Given the description of an element on the screen output the (x, y) to click on. 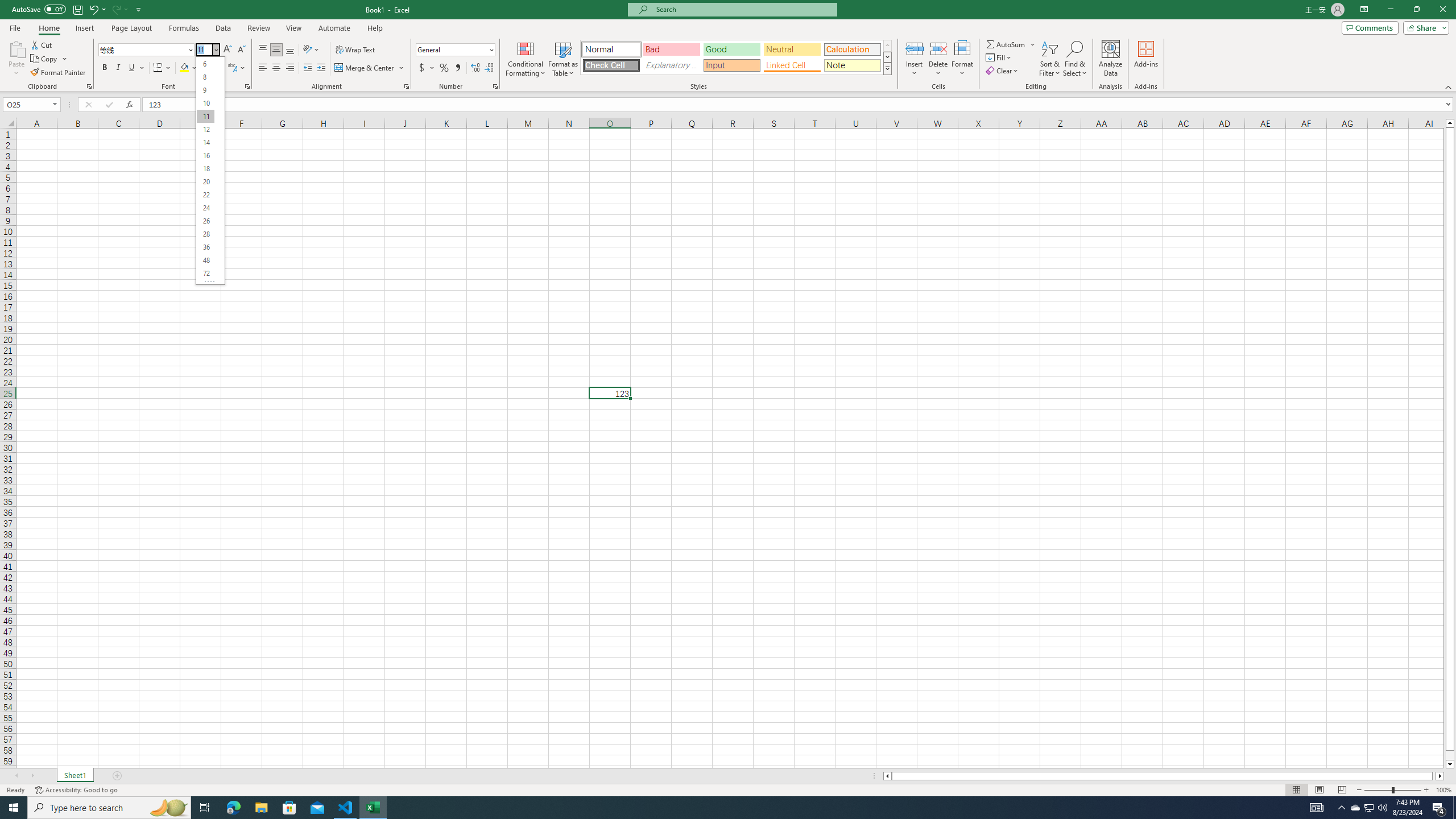
Top Align (262, 49)
Align Right (290, 67)
Copy (45, 58)
Decrease Indent (307, 67)
Number Format (455, 49)
Note (852, 65)
Increase Indent (320, 67)
Increase Font Size (227, 49)
